Given the description of an element on the screen output the (x, y) to click on. 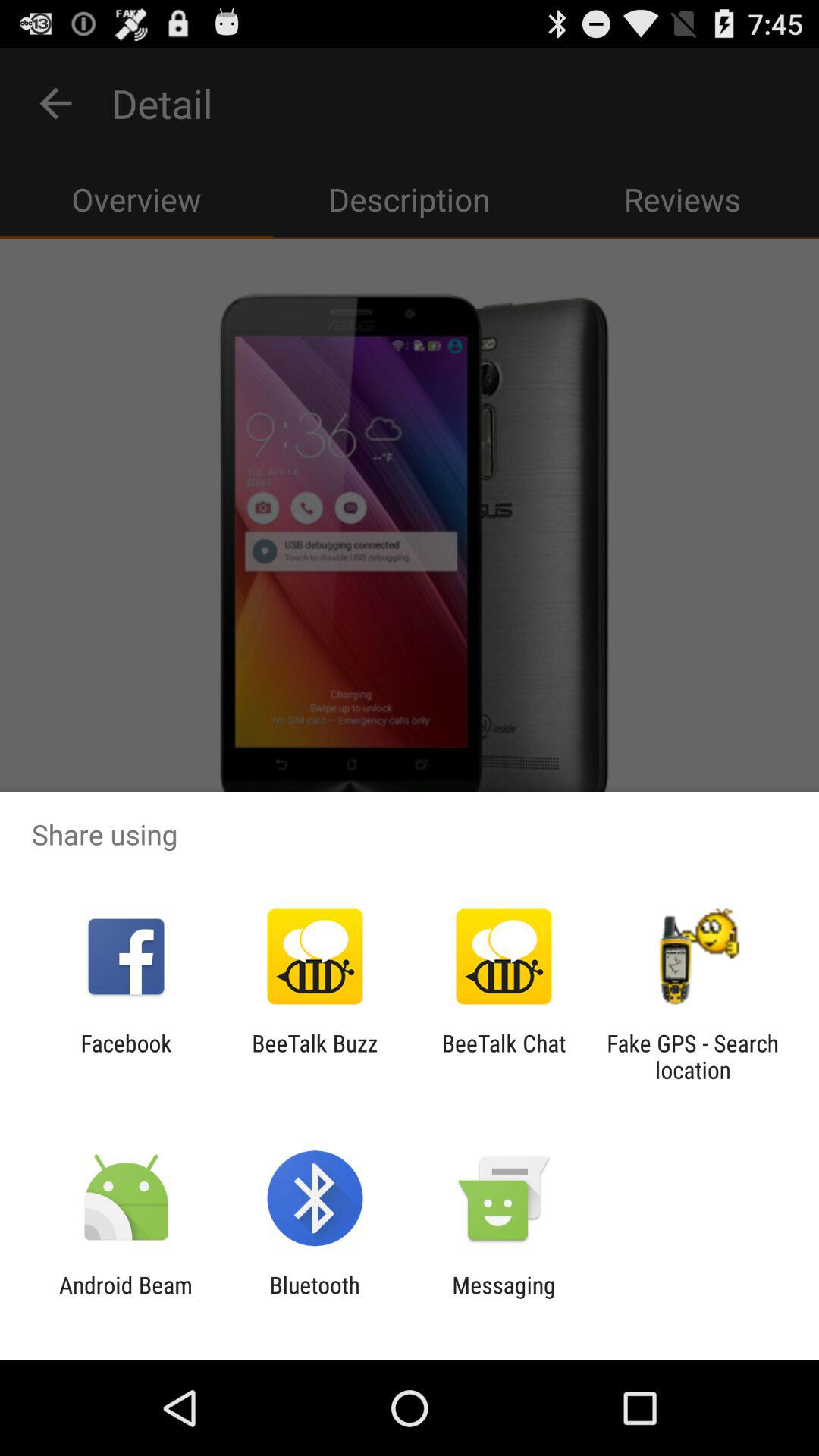
launch app next to the android beam icon (314, 1298)
